Given the description of an element on the screen output the (x, y) to click on. 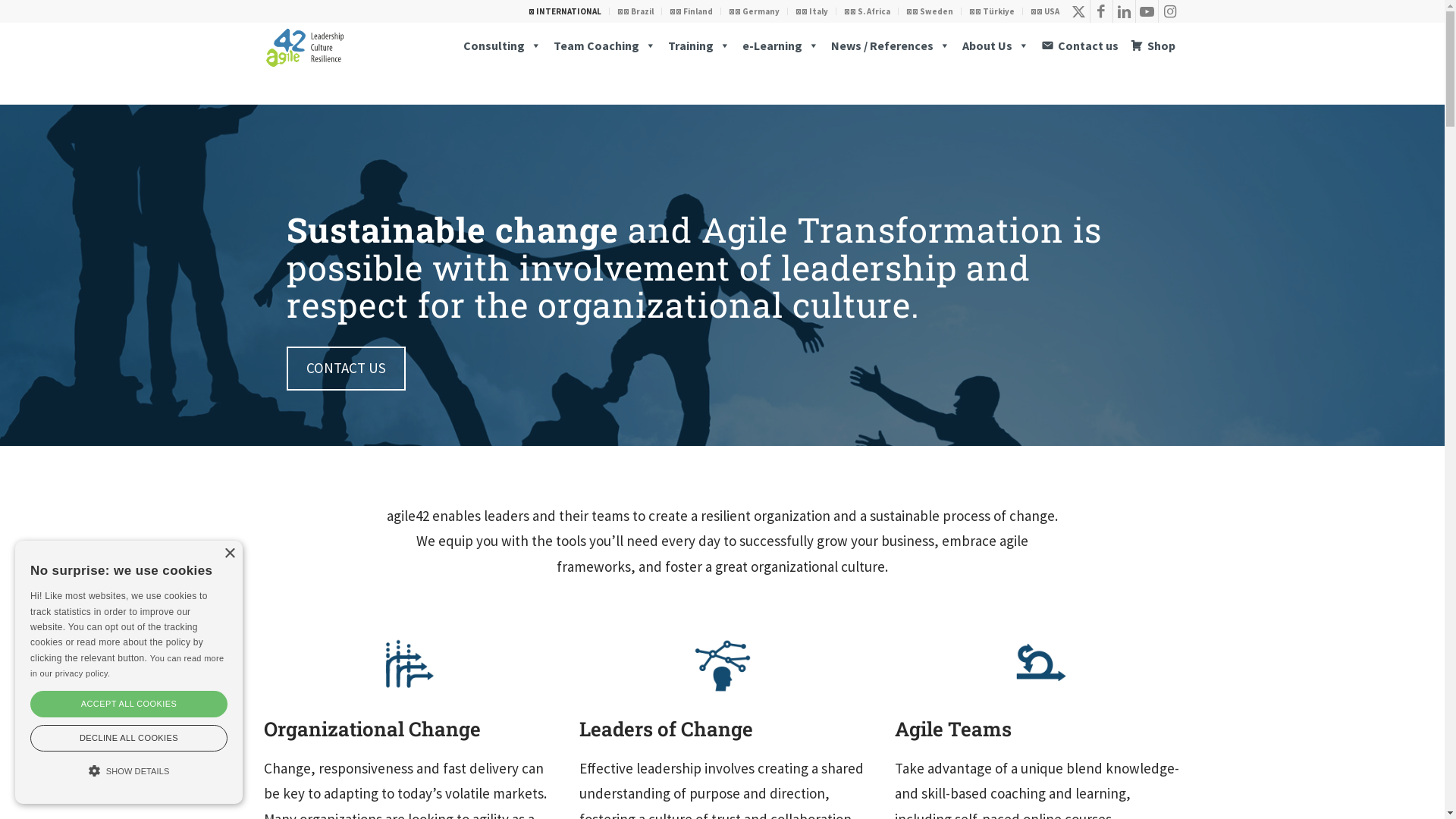
Shop Element type: text (1151, 45)
You can read more in our privacy policy. Element type: text (126, 665)
Youtube Element type: hover (1146, 11)
Facebook Element type: hover (1101, 11)
e-Learning Element type: text (779, 45)
LinkedIn Element type: hover (1124, 11)
Consulting Element type: text (501, 45)
Team Coaching Element type: text (604, 45)
Instagram Element type: hover (1169, 11)
About Us Element type: text (994, 45)
Twitter Element type: hover (1078, 11)
Contact us Element type: text (1078, 45)
Training Element type: text (698, 45)
CONTACT US Element type: text (345, 367)
News / References Element type: text (890, 45)
